Given the description of an element on the screen output the (x, y) to click on. 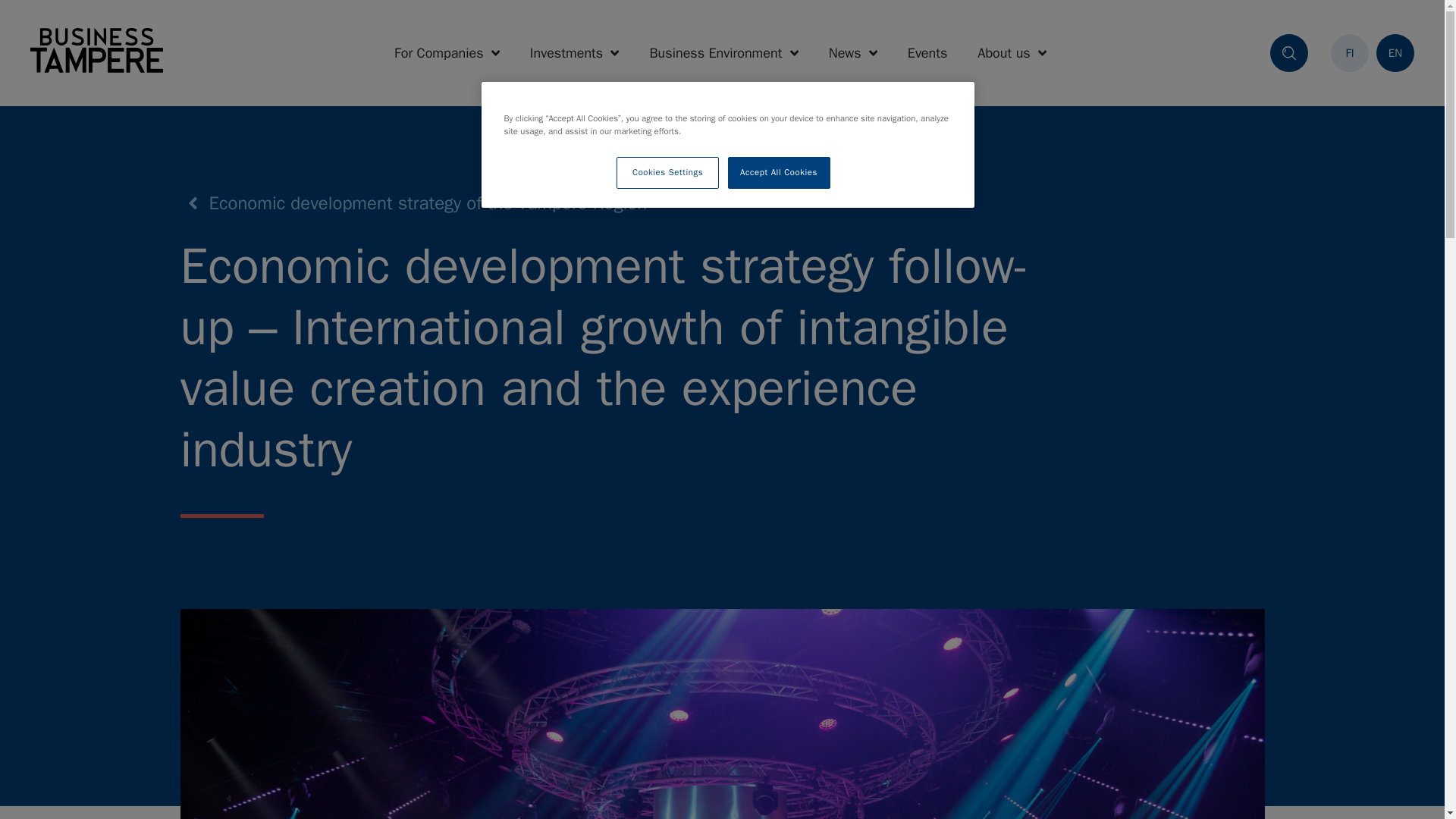
About us (1011, 52)
Business Tampere logo (96, 52)
Go to the frontpage (96, 52)
FI (1349, 53)
Business Tampere logo (96, 49)
Events (927, 52)
For Companies (446, 52)
Investments (574, 52)
EN (1394, 53)
Economic development strategy of the Tampere Region (413, 203)
News (852, 52)
Business Environment (723, 52)
